Given the description of an element on the screen output the (x, y) to click on. 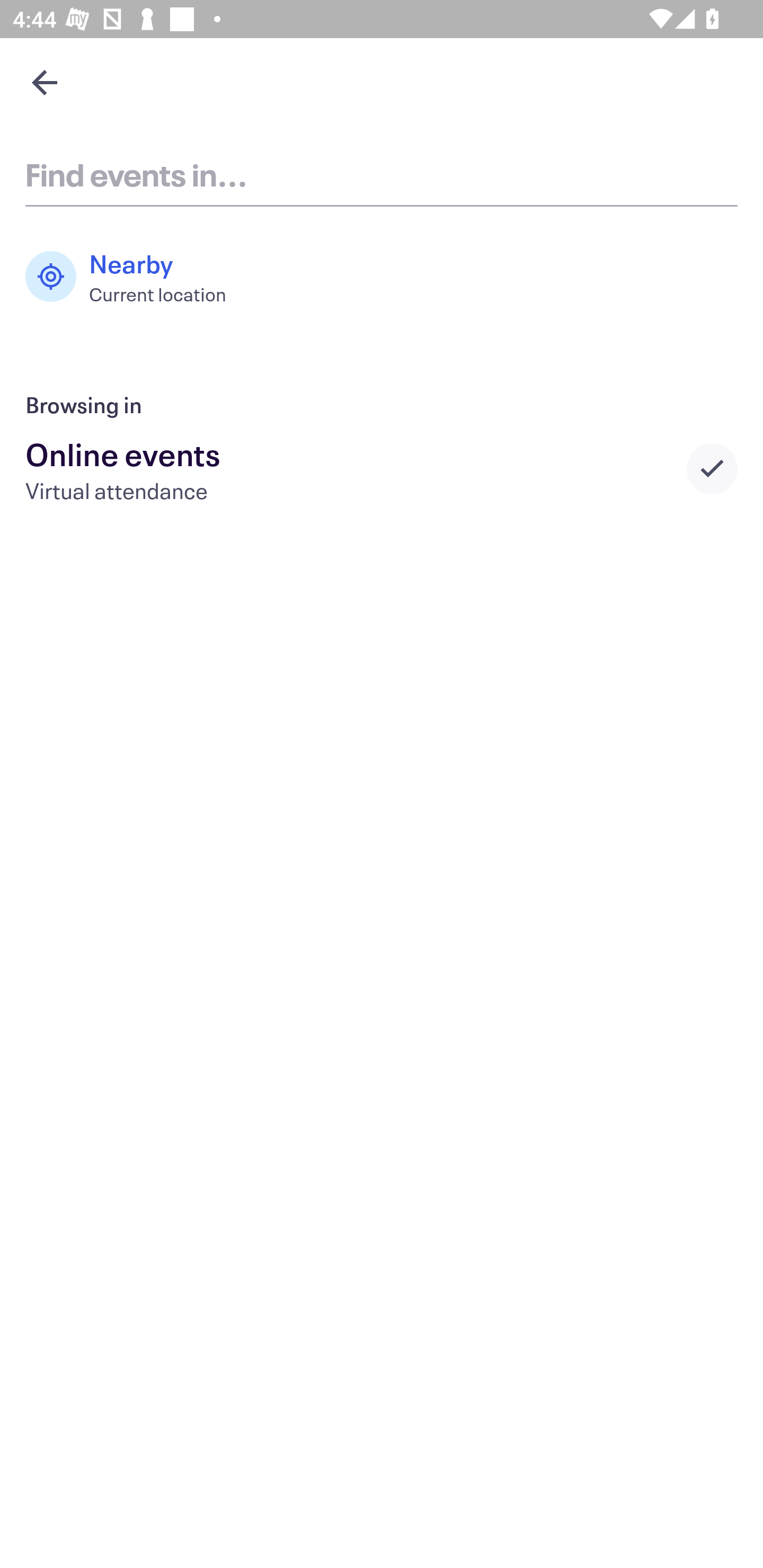
Navigate up (44, 82)
Find events in... (381, 173)
Nearby Current location (135, 276)
Online events Virtual attendance Selected city (381, 468)
